Given the description of an element on the screen output the (x, y) to click on. 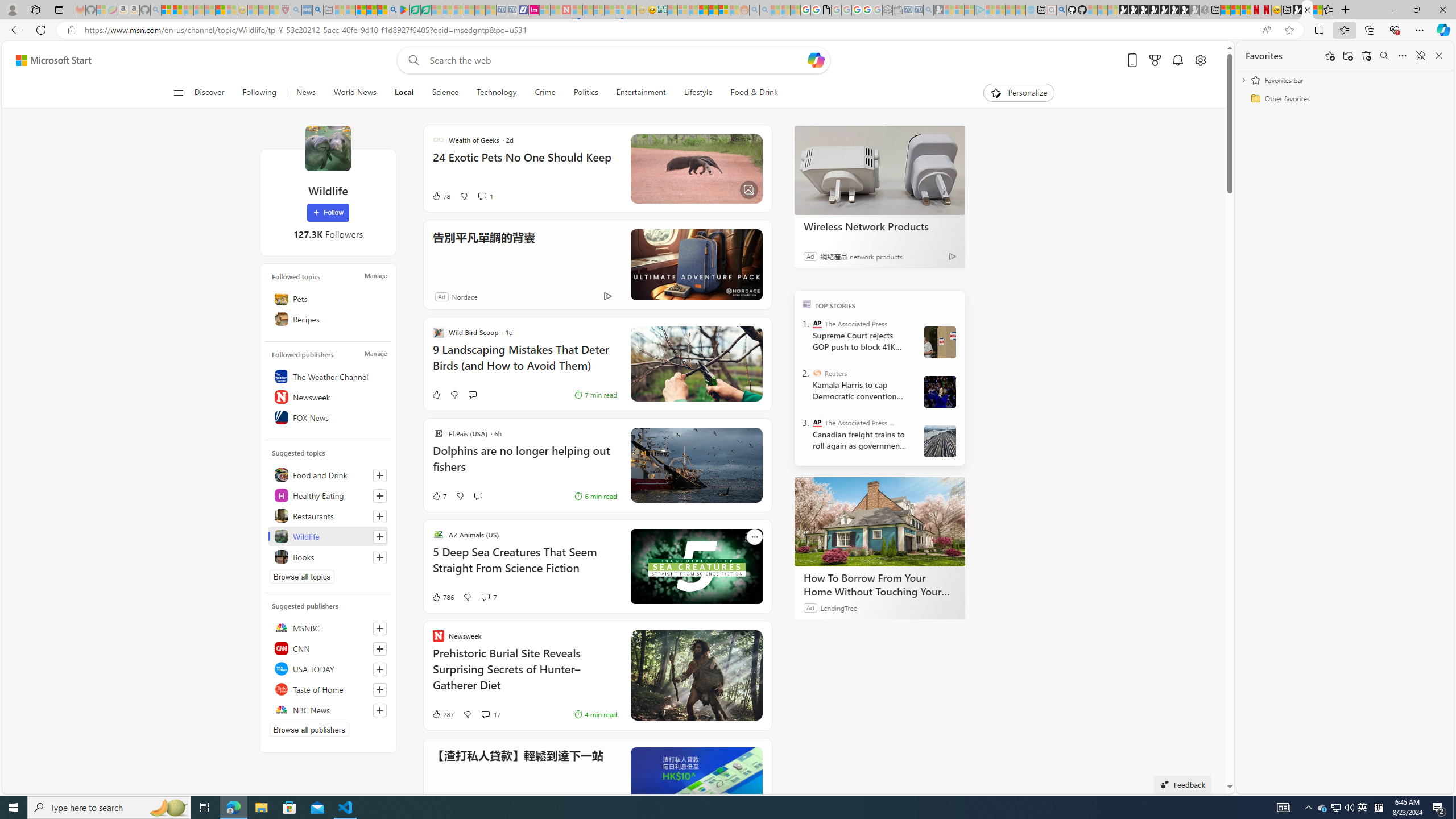
View comments 17 Comment (485, 714)
Unpin favorites (1420, 55)
Wildlife (327, 536)
287 Like (442, 714)
